Given the description of an element on the screen output the (x, y) to click on. 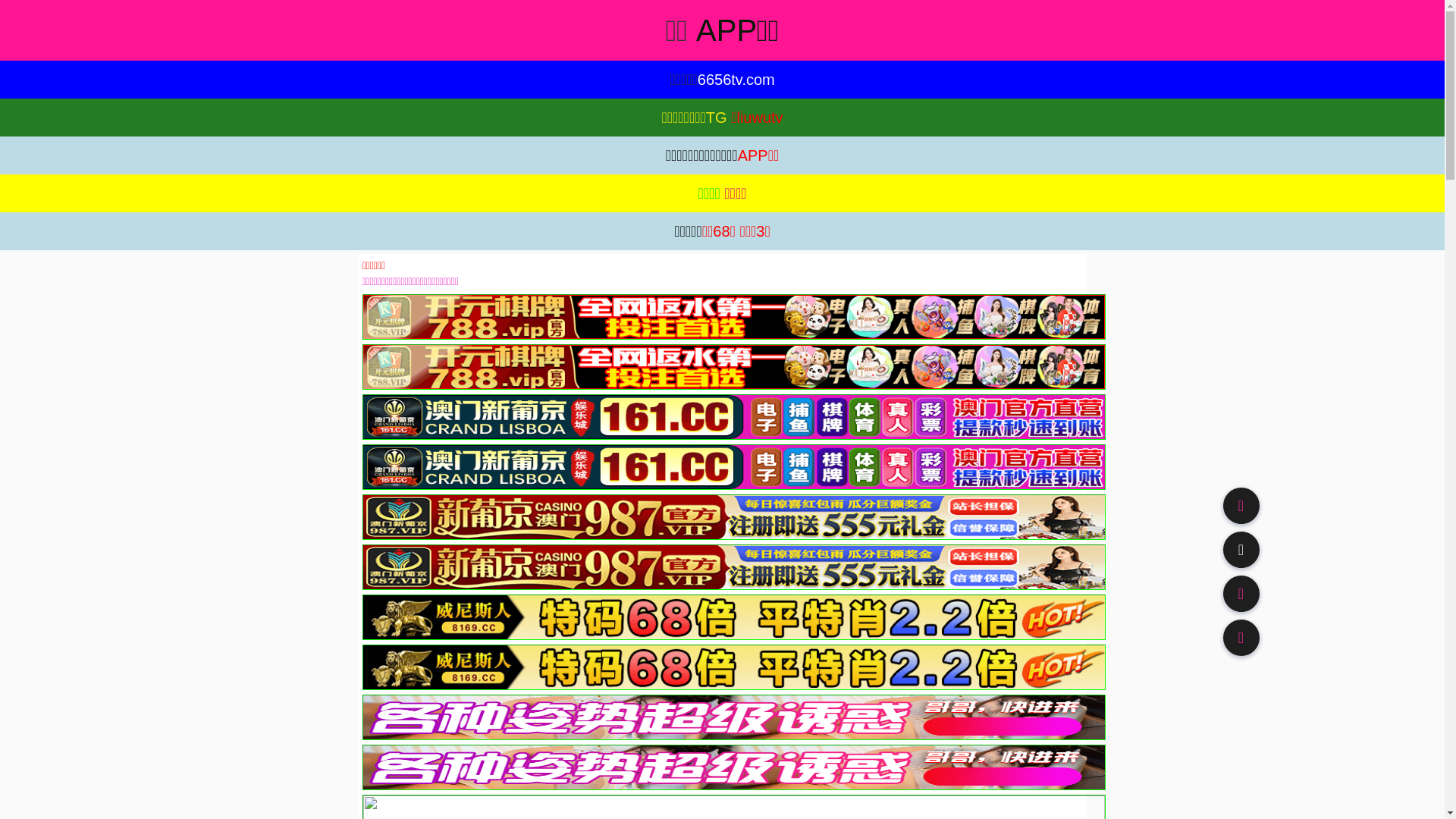
91TV Element type: hover (1240, 593)
